Given the description of an element on the screen output the (x, y) to click on. 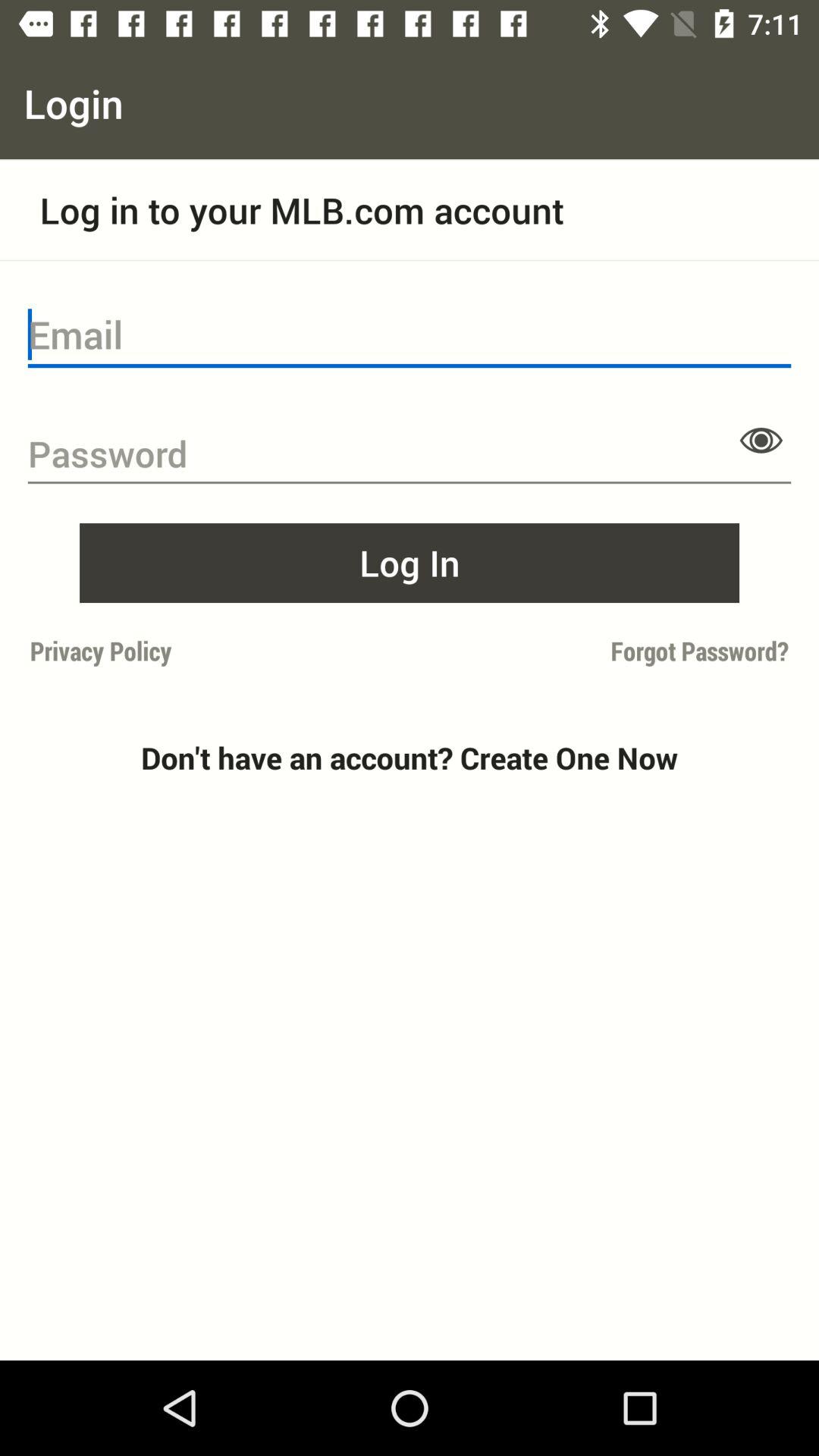
open icon above log in item (761, 440)
